Given the description of an element on the screen output the (x, y) to click on. 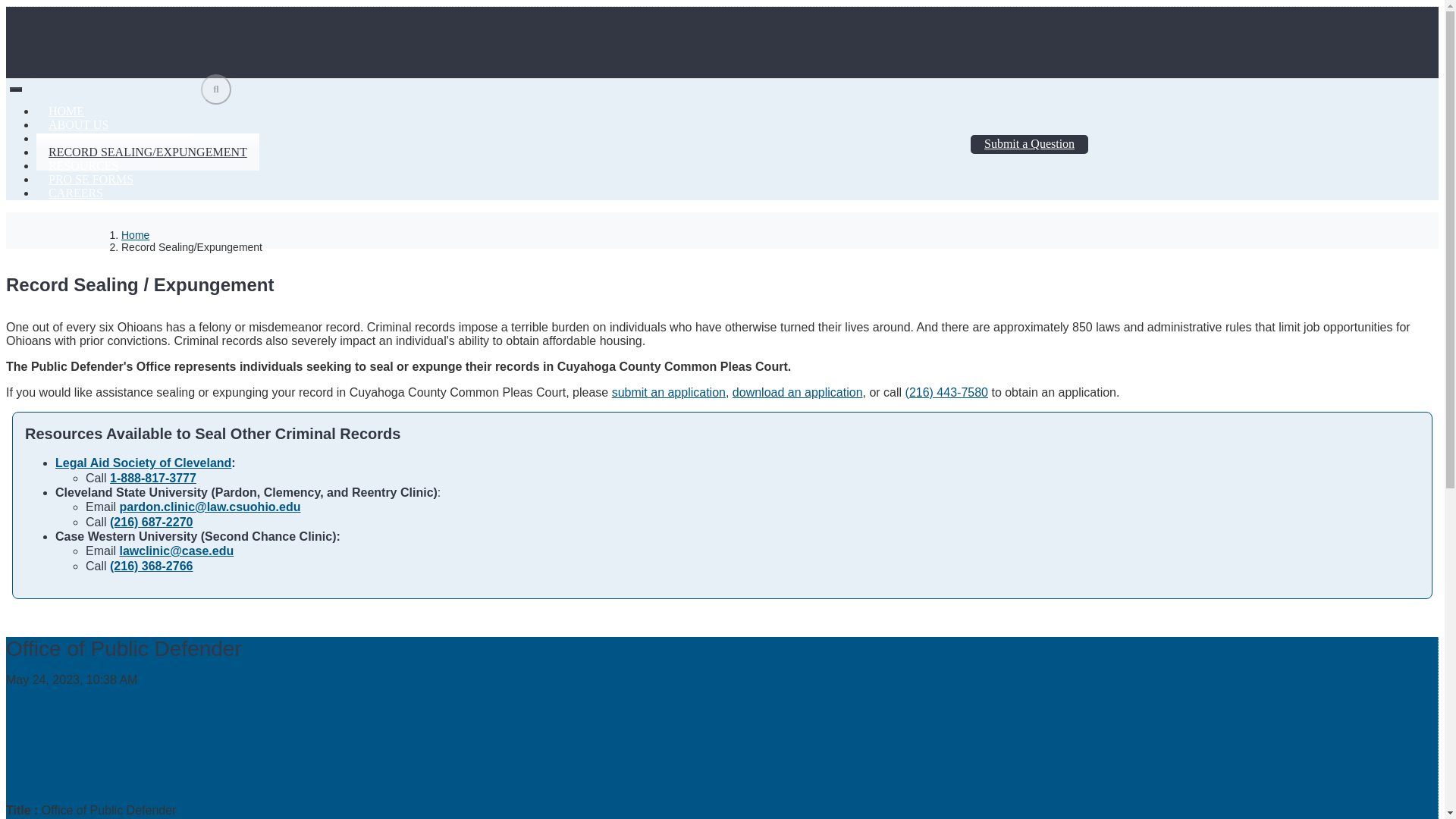
Submit a Question (1029, 144)
RESOURCES (83, 165)
1-888-817-3777 (153, 477)
Expungement Application Packet (797, 391)
PRO SE FORMS (90, 179)
HOME (66, 110)
CAREERS (75, 192)
submit an application (668, 391)
Home (134, 234)
ABOUT US (78, 124)
download an application (797, 391)
Legal Aid Society of Cleveland (143, 462)
Public Defender - Cuyahoga County of Ohio (156, 38)
DIVISIONS (78, 138)
